Given the description of an element on the screen output the (x, y) to click on. 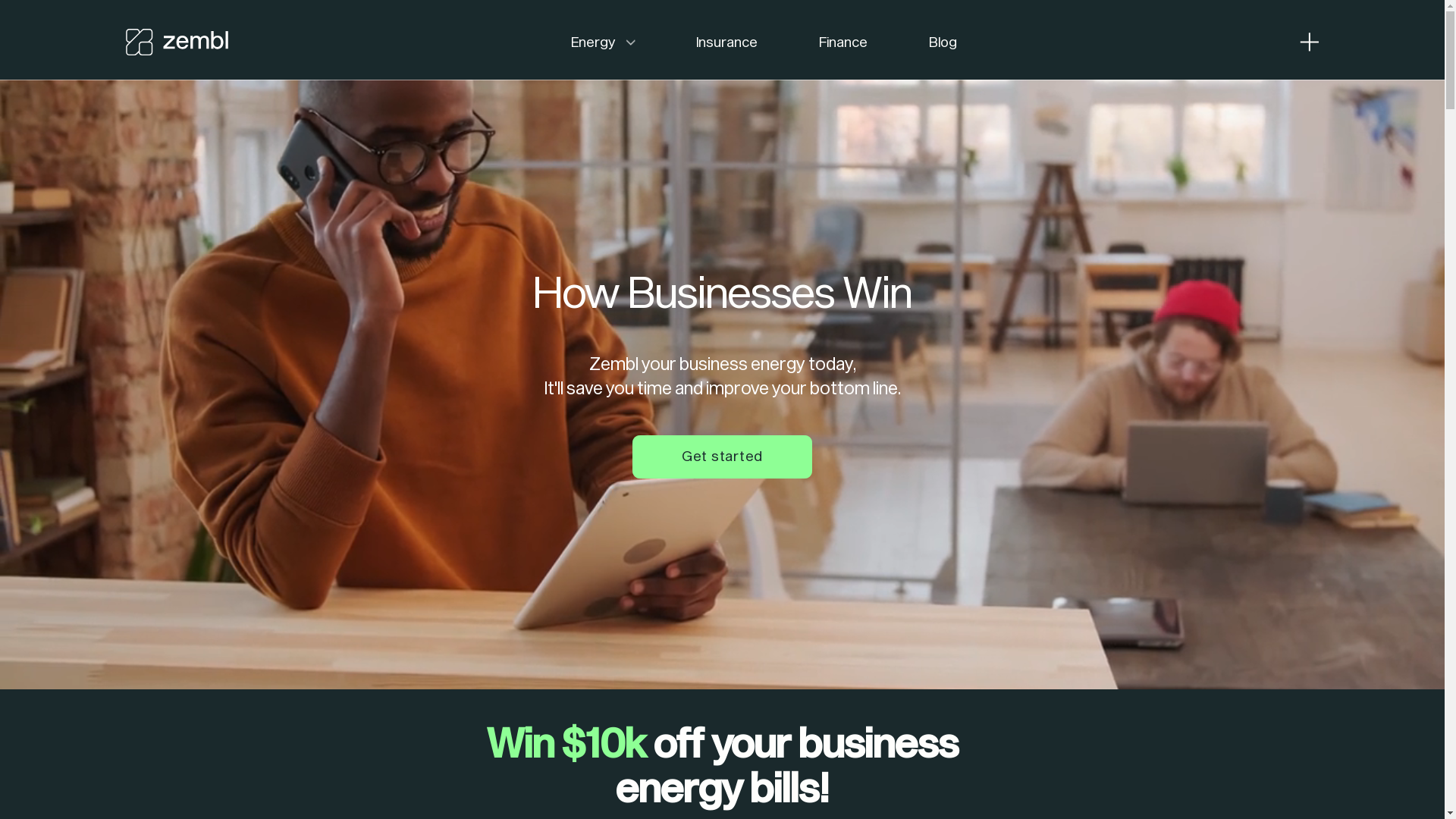
Energy Element type: text (593, 42)
Finance Element type: text (843, 42)
Get started Element type: text (722, 457)
Insurance Element type: text (726, 42)
Blog Element type: text (942, 42)
